Given the description of an element on the screen output the (x, y) to click on. 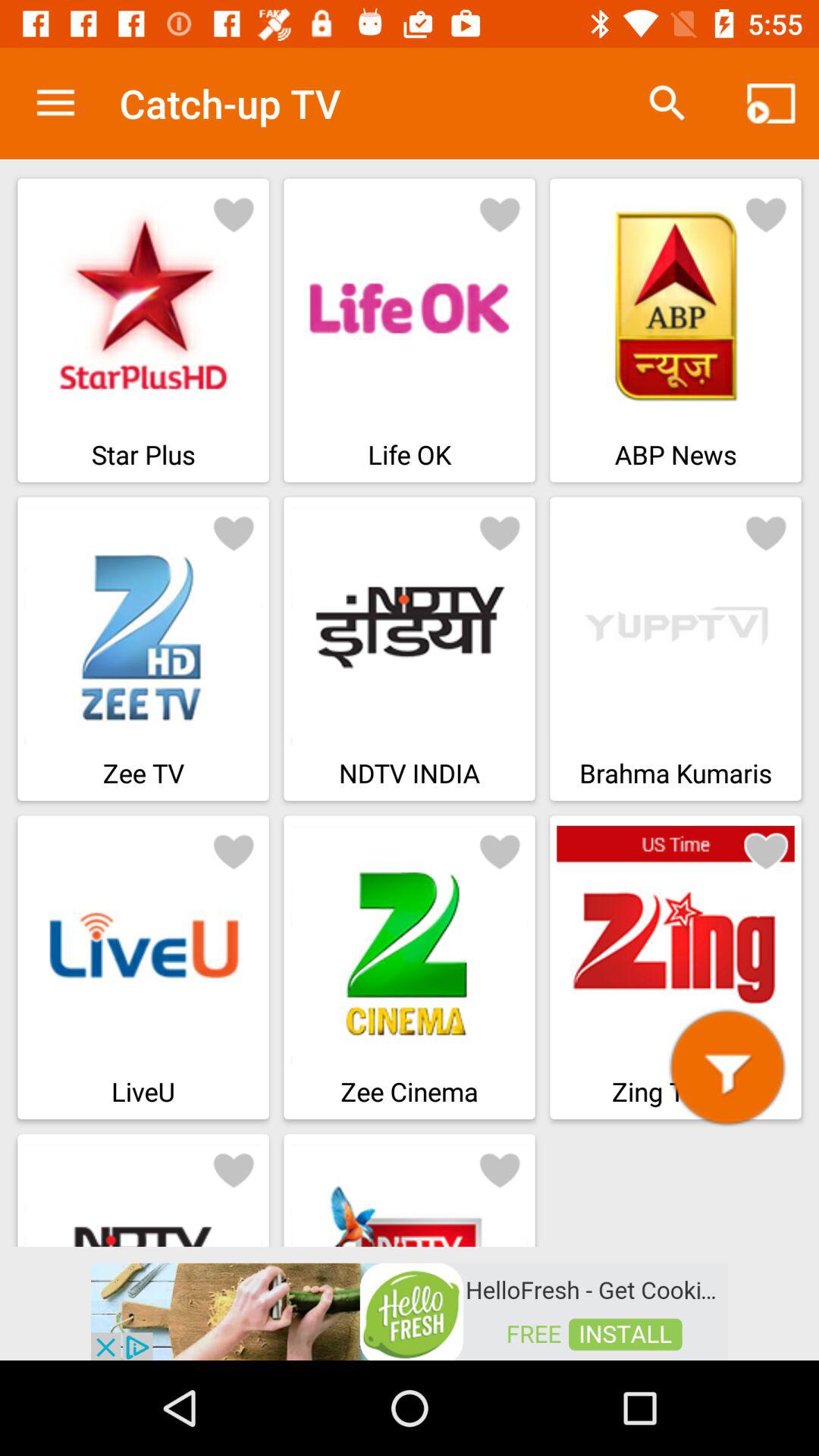
click to favorite starplus app (233, 213)
